Given the description of an element on the screen output the (x, y) to click on. 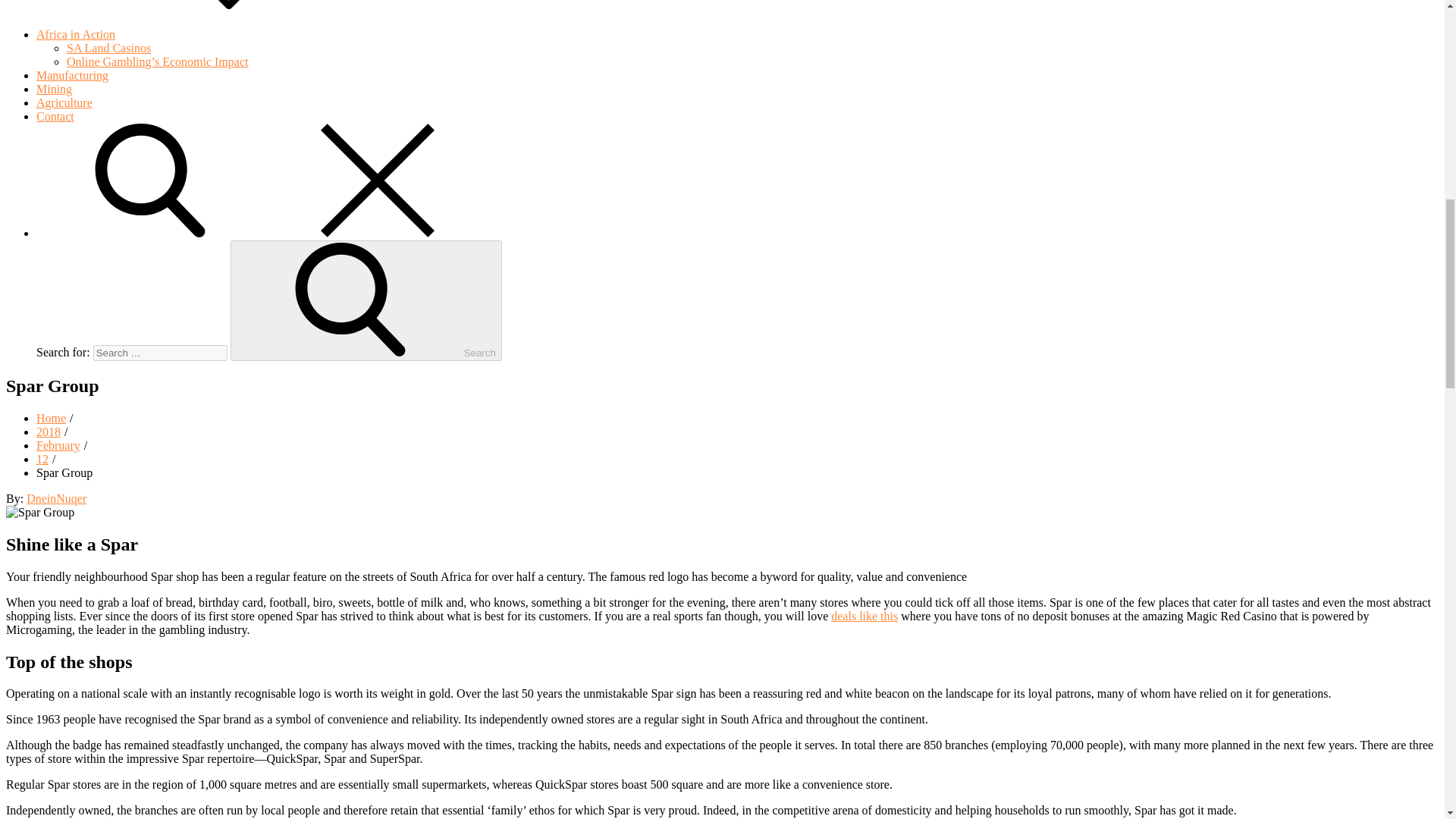
Mining (53, 88)
12 (42, 459)
SA Land Casinos (108, 47)
DneinNuqer (55, 498)
Africa in Action (189, 33)
February (58, 445)
2018 (48, 431)
Manufacturing (71, 74)
deals like this (864, 615)
Search (366, 300)
